Given the description of an element on the screen output the (x, y) to click on. 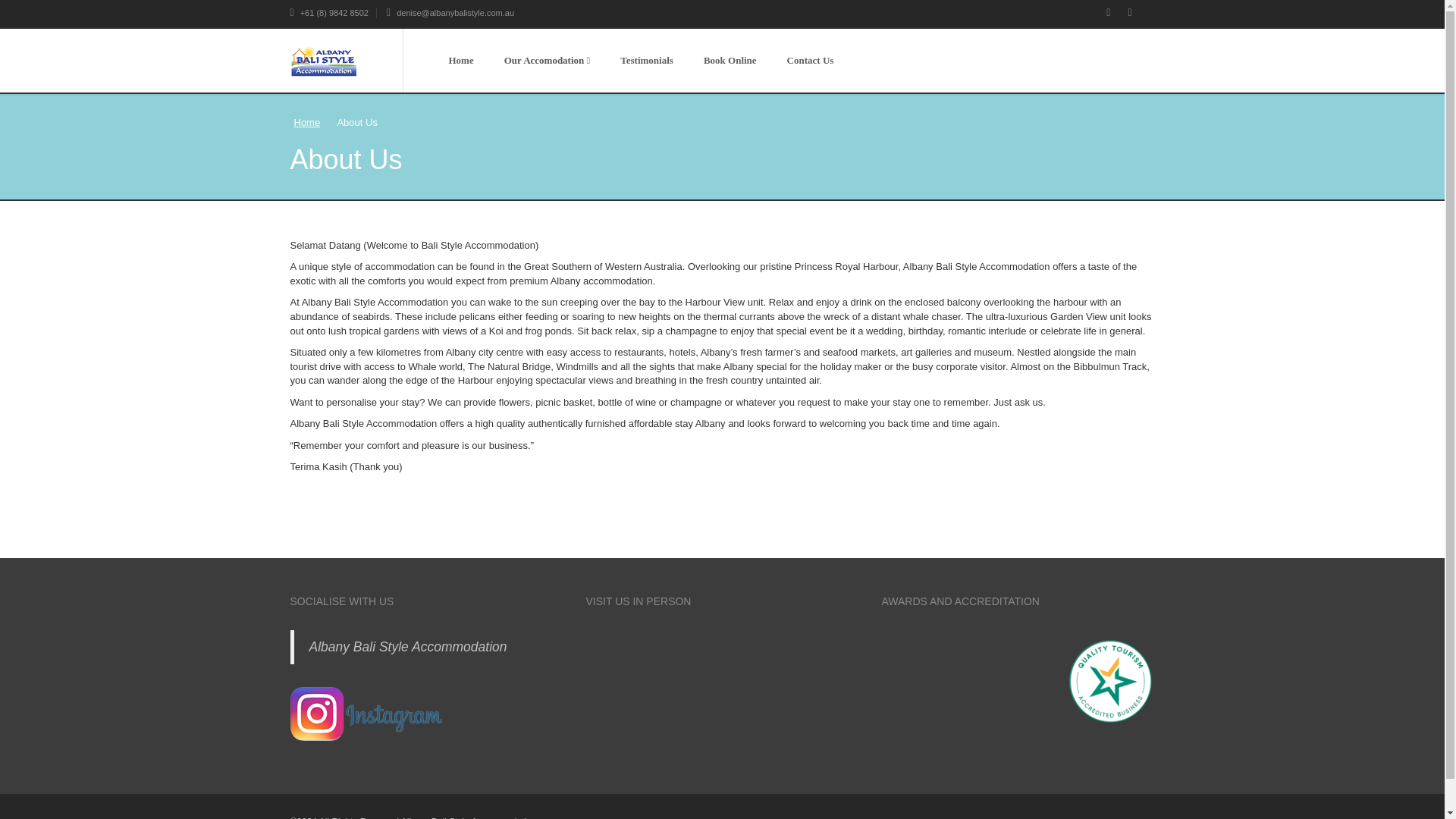
Testimonials (646, 60)
Albany Bali Style Accommodation (407, 646)
Book Online (729, 60)
Home (306, 122)
Contact Us (809, 60)
Our Accomodation (547, 60)
